Given the description of an element on the screen output the (x, y) to click on. 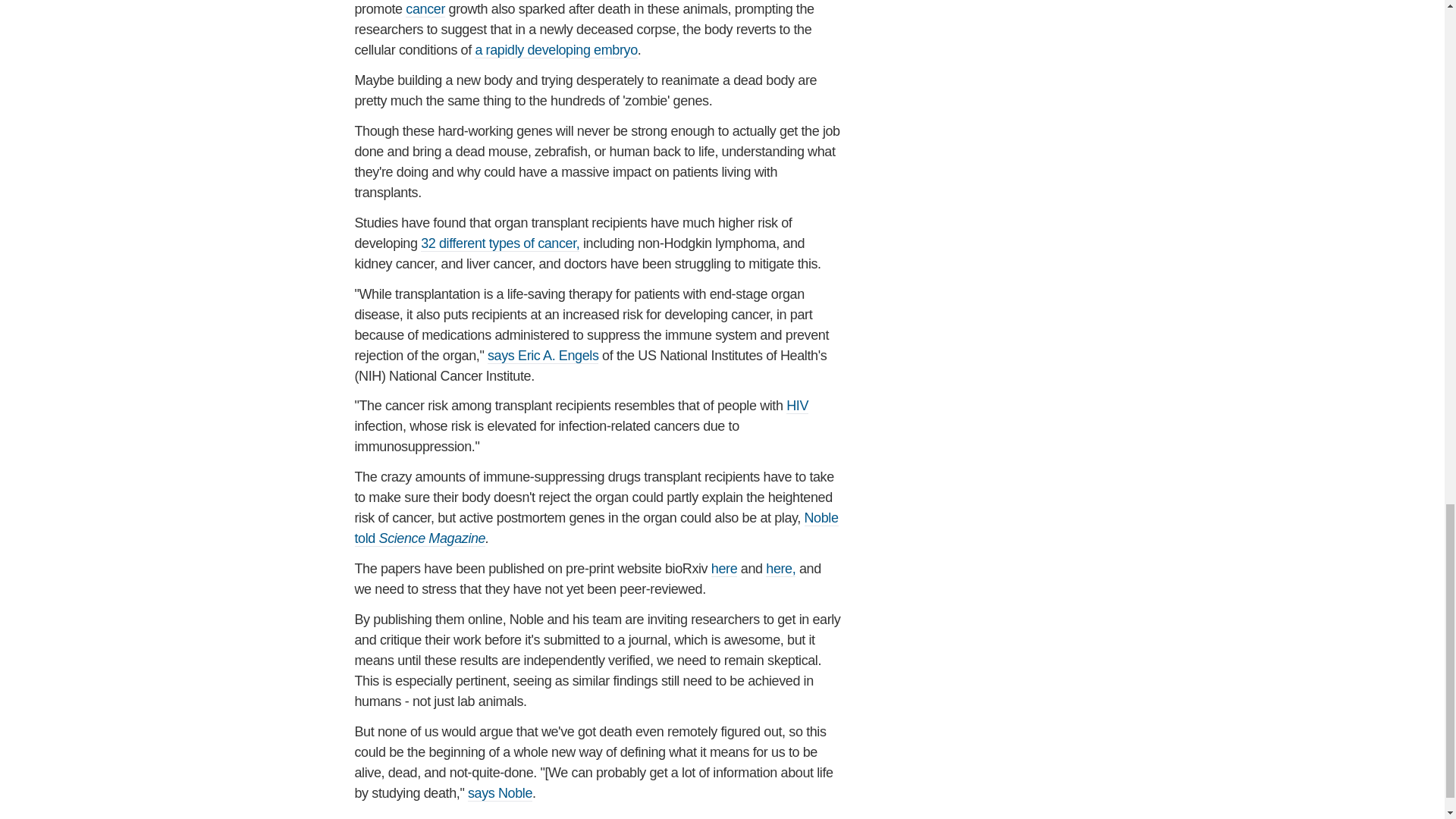
a rapidly developing embryo (555, 50)
Noble told (596, 528)
cancer (425, 9)
HIV (797, 406)
says Eric A. Engels (542, 355)
32 different types of cancer, (499, 243)
